Given the description of an element on the screen output the (x, y) to click on. 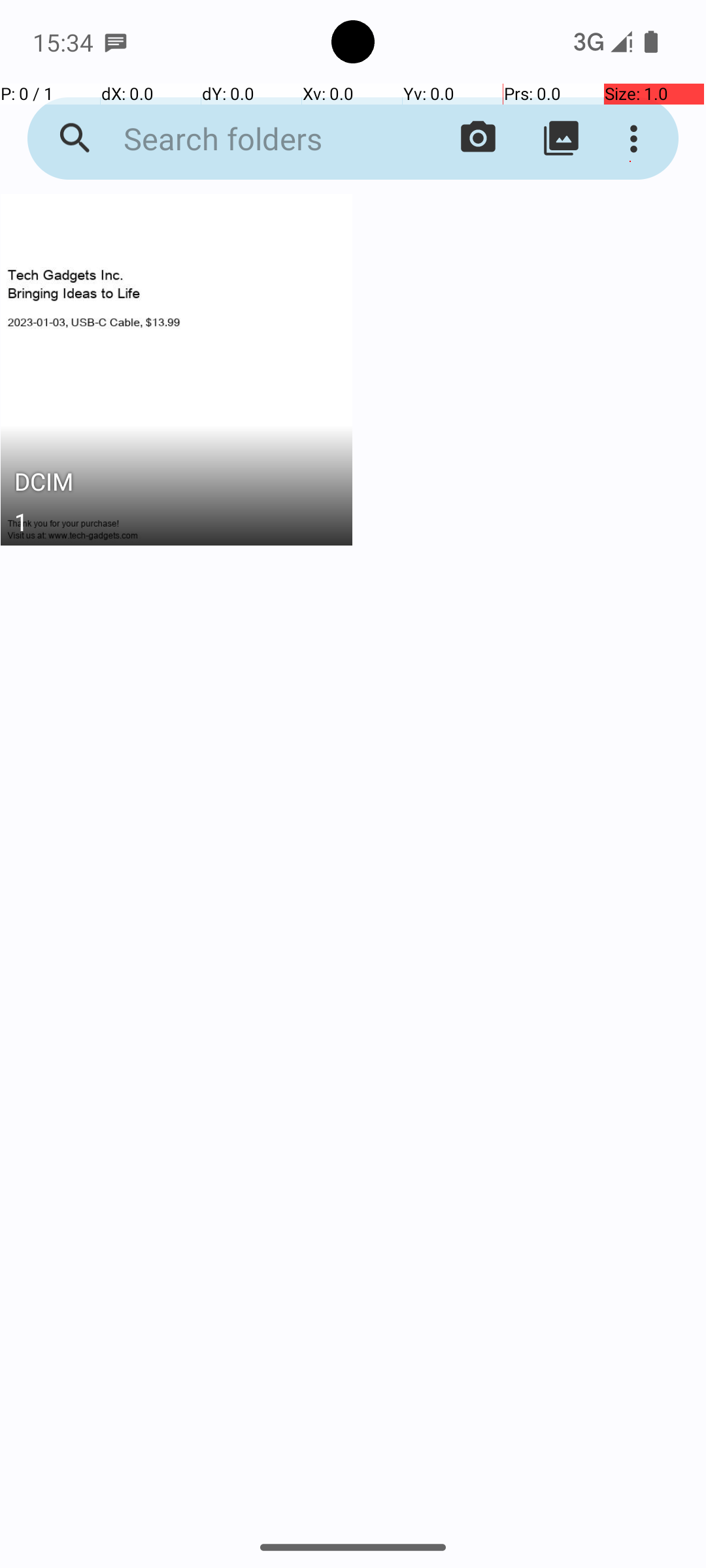
Search folders Element type: android.widget.EditText (252, 138)
Open camera Element type: android.widget.Button (477, 138)
Show all folders content Element type: android.widget.Button (560, 138)
DCIM Element type: android.widget.TextView (176, 484)
